Given the description of an element on the screen output the (x, y) to click on. 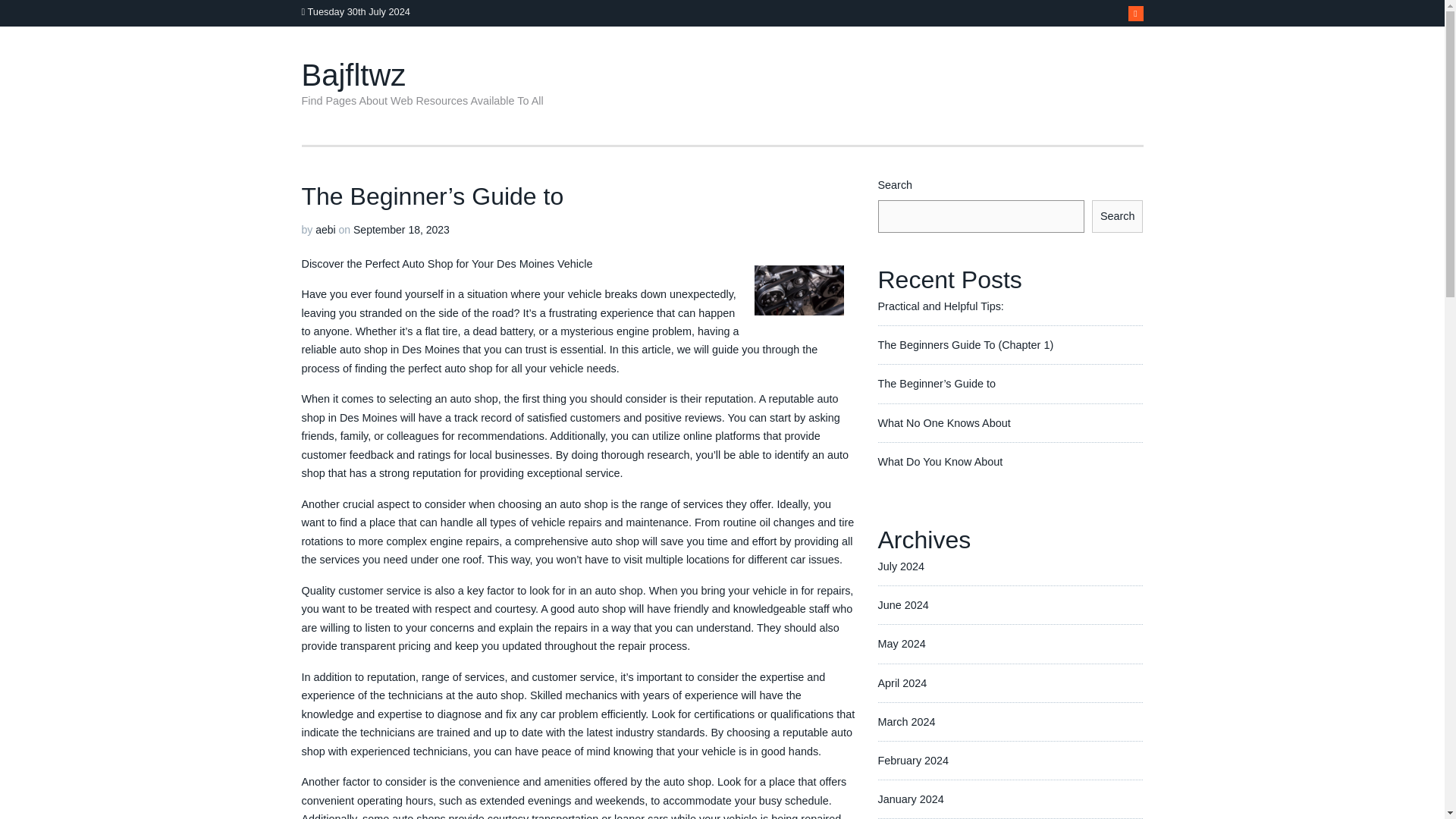
May 2024 (901, 644)
aebi (324, 229)
What No One Knows About (943, 422)
July 2024 (900, 566)
April 2024 (902, 682)
June 2024 (902, 604)
What Do You Know About (940, 461)
Bajfltwz (353, 74)
Practical and Helpful Tips: (940, 306)
March 2024 (906, 721)
Bajfltwz (353, 74)
February 2024 (913, 760)
September 18, 2023 (401, 229)
January 2024 (910, 799)
Search (1117, 215)
